Given the description of an element on the screen output the (x, y) to click on. 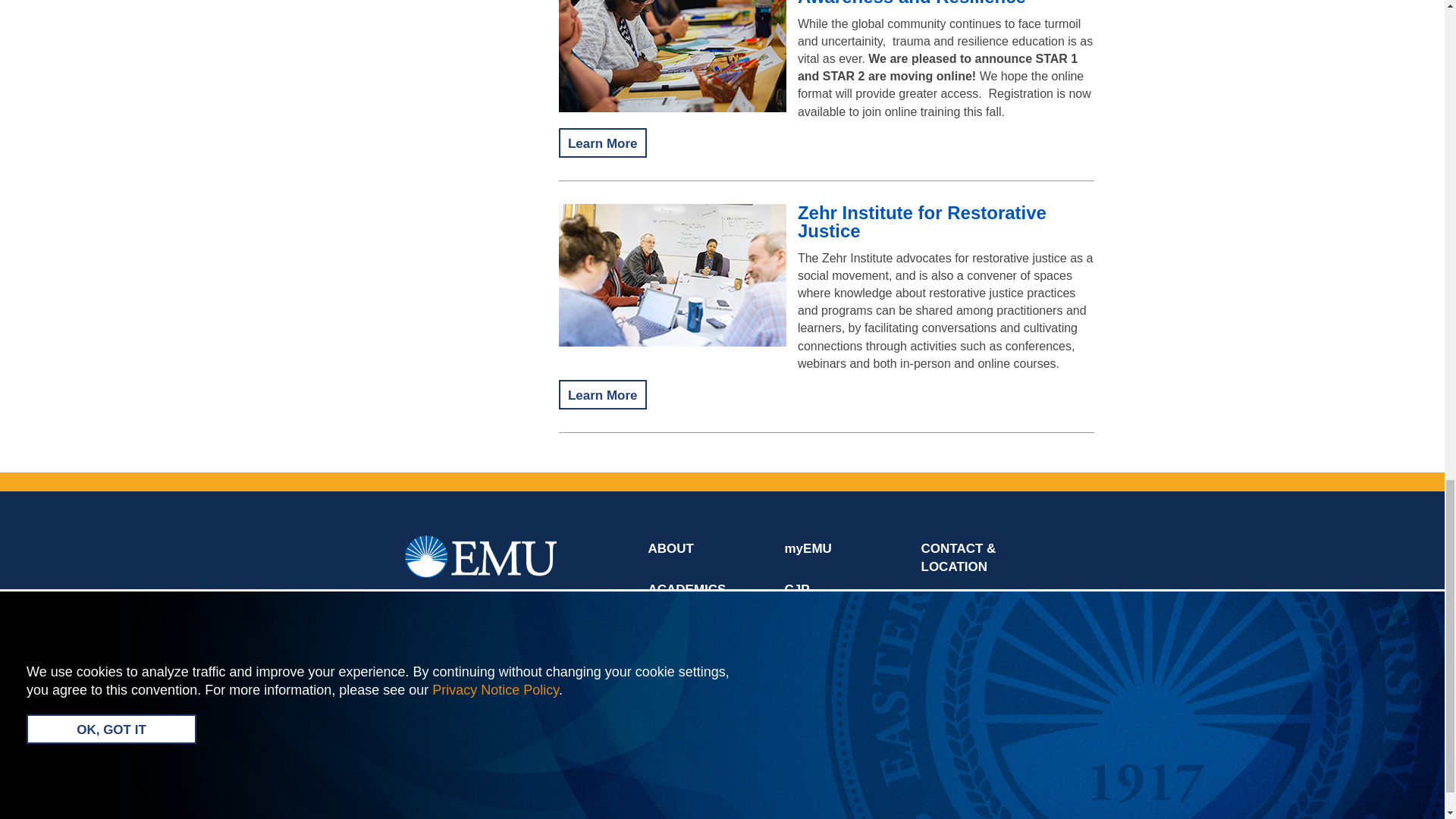
About (674, 548)
Academics (690, 589)
Admissions (691, 629)
